Given the description of an element on the screen output the (x, y) to click on. 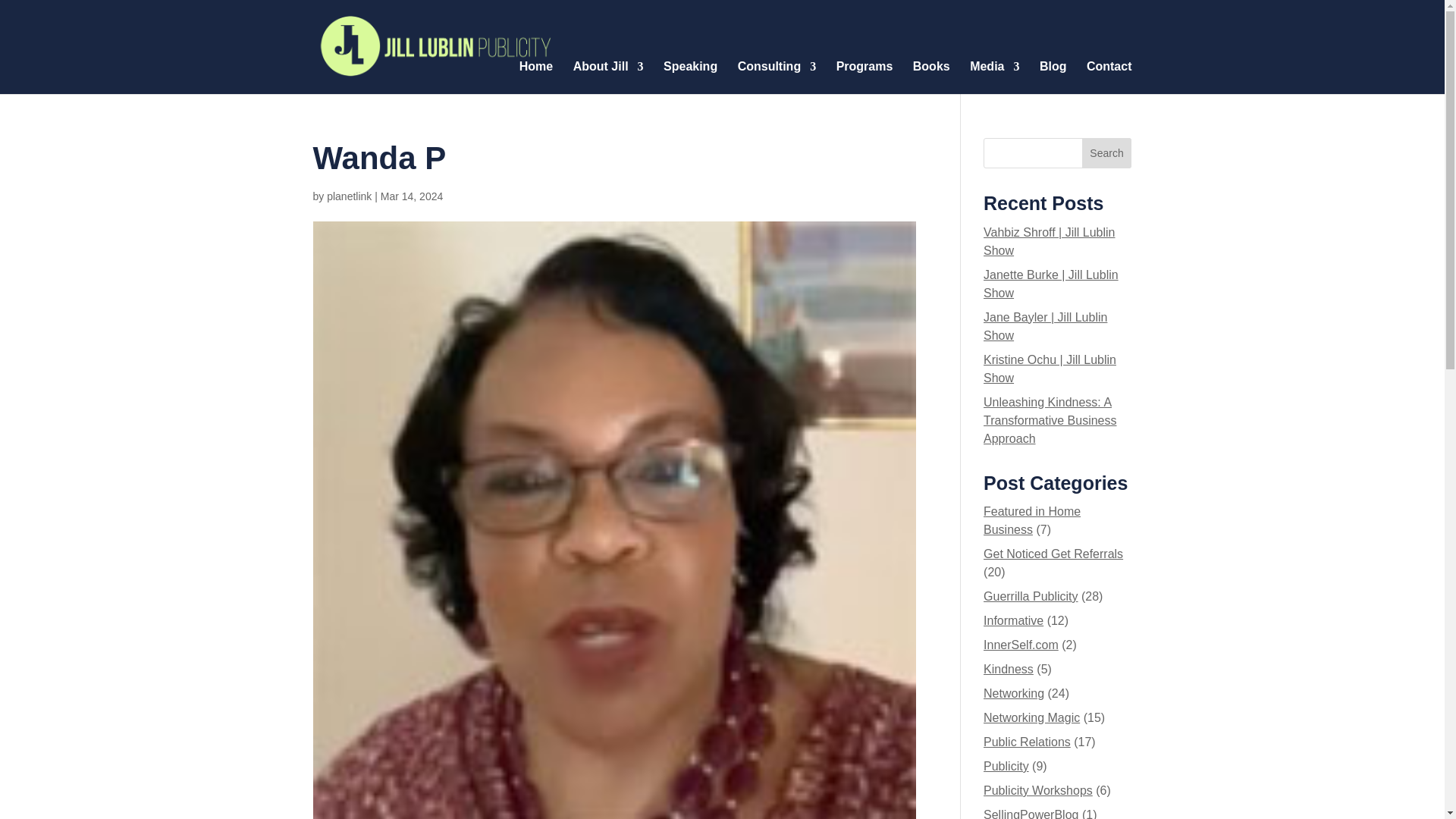
Programs (864, 87)
planetlink (348, 196)
Search (1106, 153)
Consulting (777, 87)
Search (1106, 153)
Posts by planetlink (348, 196)
Media (994, 87)
About Jill (608, 87)
Speaking (690, 87)
